Given the description of an element on the screen output the (x, y) to click on. 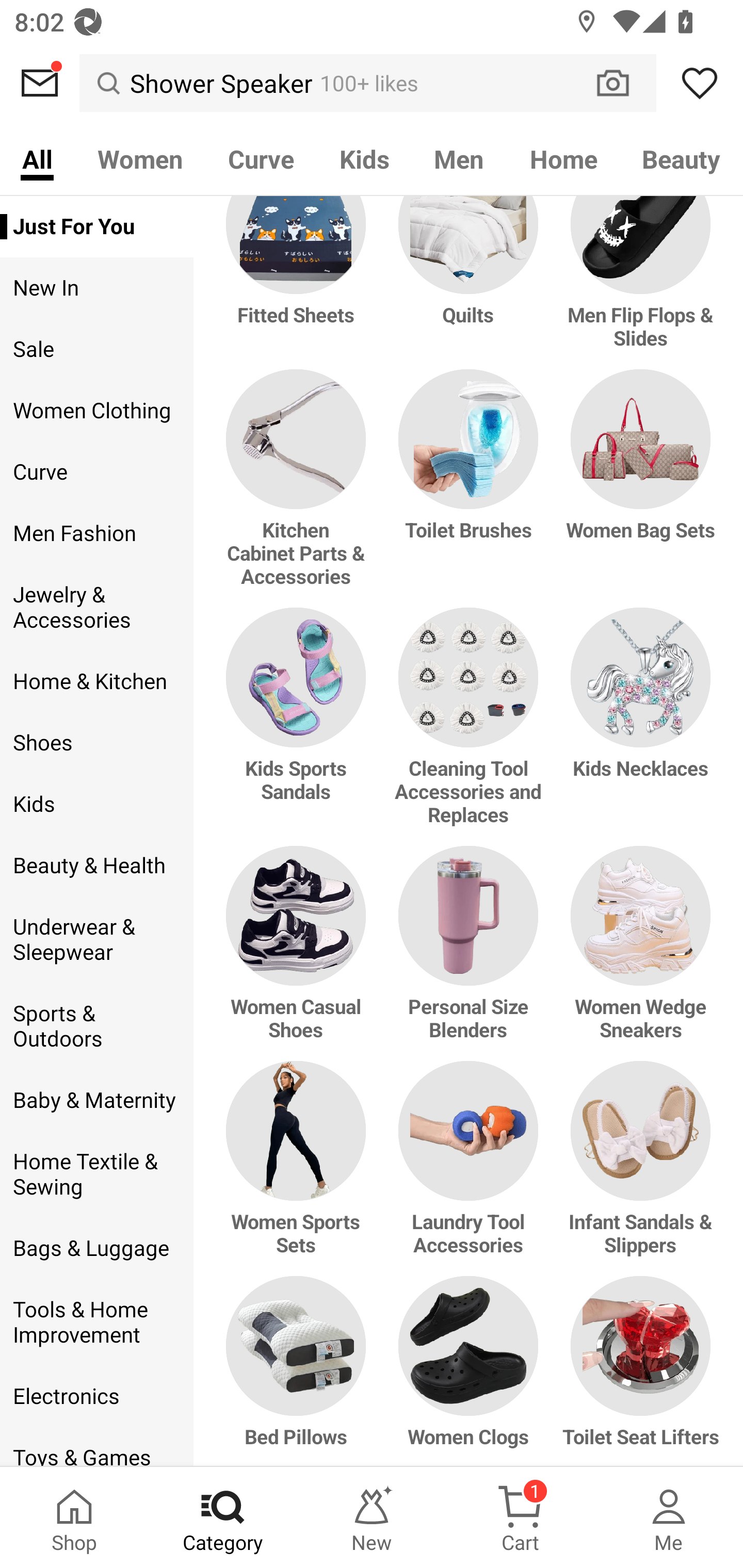
Wishlist (699, 82)
VISUAL SEARCH (623, 82)
All (37, 158)
Women (139, 158)
Curve (260, 158)
Kids (363, 158)
Men (458, 158)
Home (563, 158)
Beauty (681, 158)
Just For You (96, 226)
Fitted Sheets (299, 283)
Quilts (468, 283)
Men Flip Flops & Slides (636, 283)
New In (96, 287)
Sale (96, 348)
Kitchen Cabinet Parts & Accessories (299, 489)
Toilet Brushes (468, 489)
Women Bag Sets (636, 489)
Women Clothing (96, 410)
Curve (96, 472)
Men Fashion (96, 533)
Jewelry & Accessories (96, 607)
Kids Sports Sandals (299, 726)
Cleaning Tool Accessories and Replaces (468, 726)
Kids Necklaces (636, 726)
Home & Kitchen (96, 680)
Shoes (96, 742)
Kids (96, 804)
Beauty & Health (96, 865)
Women Casual Shoes (299, 953)
Personal Size Blenders (468, 953)
Women Wedge Sneakers (636, 953)
Underwear & Sleepwear (96, 939)
Sports & Outdoors (96, 1026)
Women Sports Sets (299, 1168)
Laundry Tool Accessories (468, 1168)
Infant Sandals & Slippers (636, 1168)
Baby & Maternity (96, 1099)
Home Textile & Sewing (96, 1174)
Bags & Luggage (96, 1248)
Bed Pillows (299, 1371)
Women Clogs (468, 1371)
Toilet Seat Lifters (636, 1371)
Tools & Home Improvement (96, 1322)
Electronics (96, 1395)
Toys & Games (96, 1446)
Shop (74, 1517)
New (371, 1517)
Cart 1 Cart (519, 1517)
Me (668, 1517)
